Given the description of an element on the screen output the (x, y) to click on. 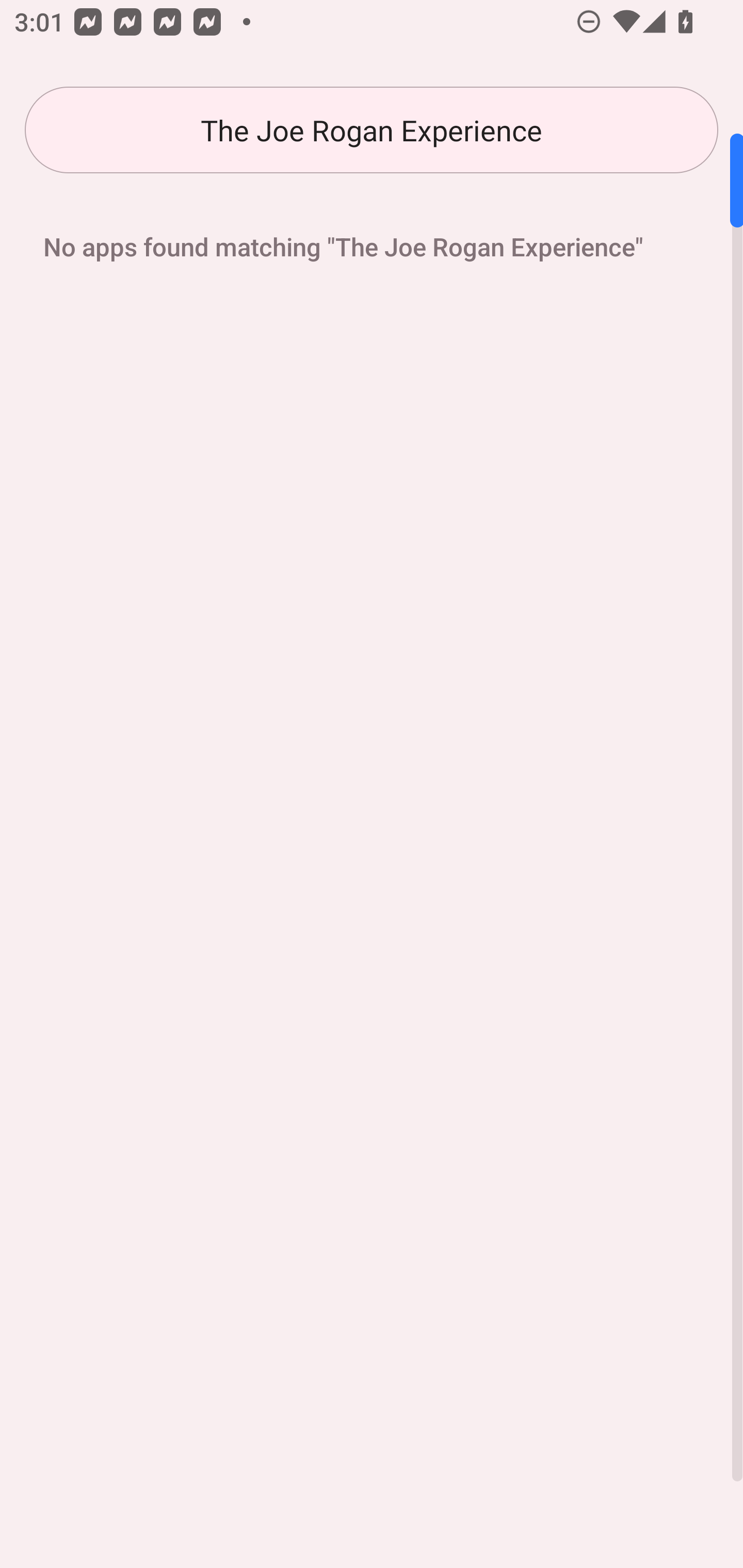
The Joe Rogan Experience (371, 130)
